Given the description of an element on the screen output the (x, y) to click on. 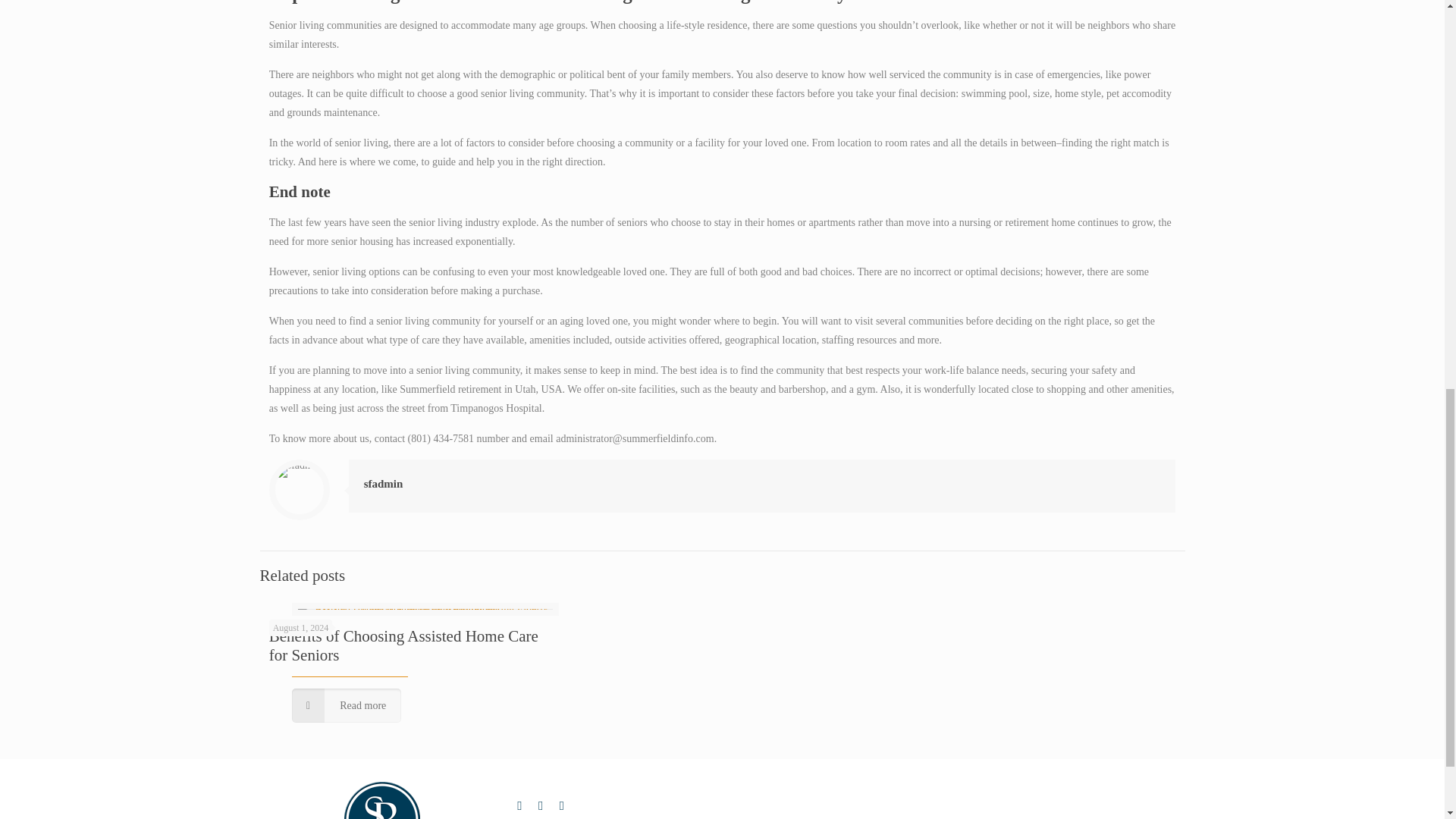
sfadmin (383, 483)
Benefits of Choosing Assisted Home Care for Seniors (403, 645)
Read more (346, 705)
